Given the description of an element on the screen output the (x, y) to click on. 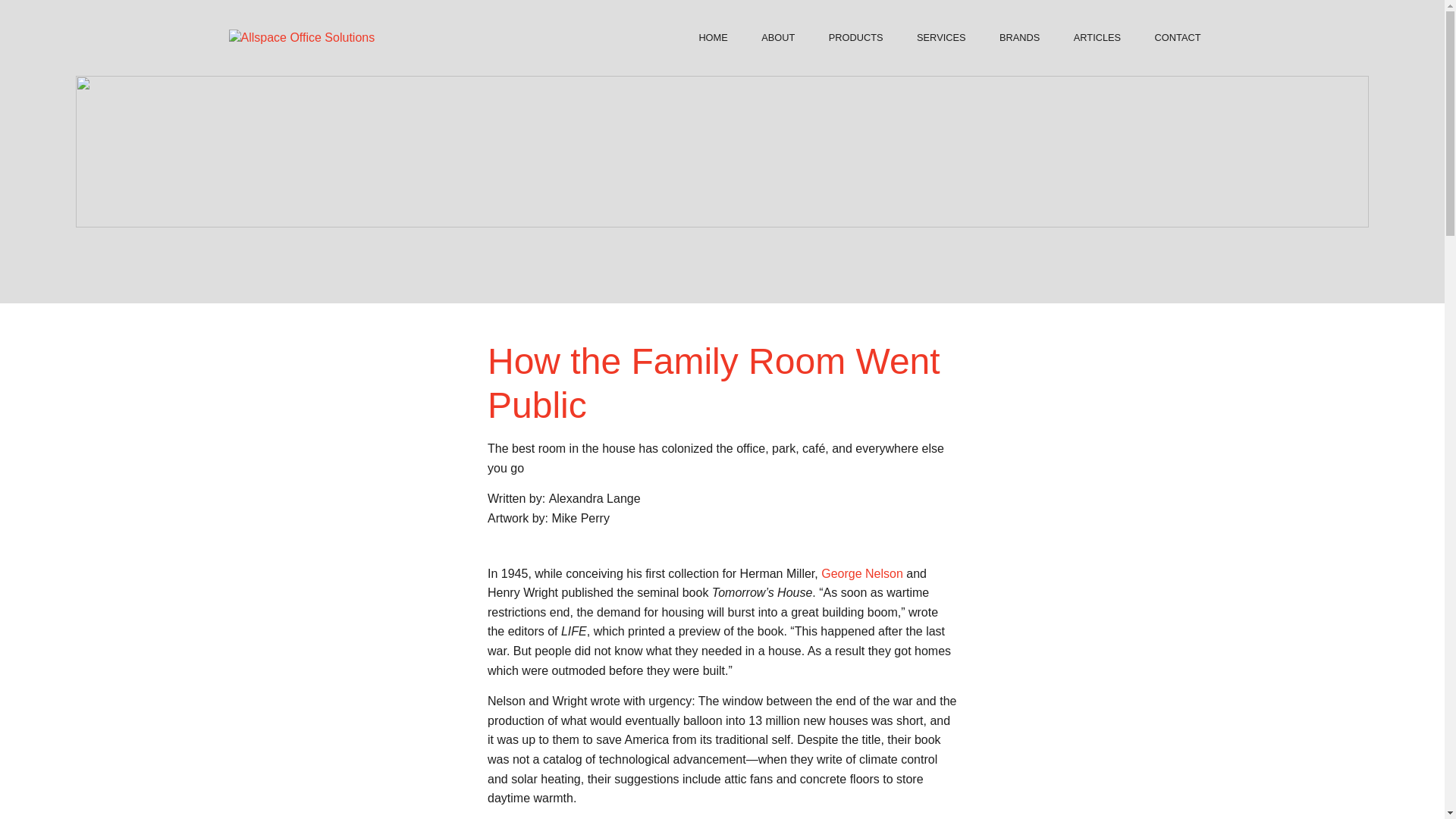
HOME (712, 37)
ABOUT (777, 37)
PRODUCTS (855, 37)
ARTICLES (1096, 37)
CONTACT (1177, 37)
BRANDS (1019, 37)
George Nelson (861, 573)
SERVICES (940, 37)
